Given the description of an element on the screen output the (x, y) to click on. 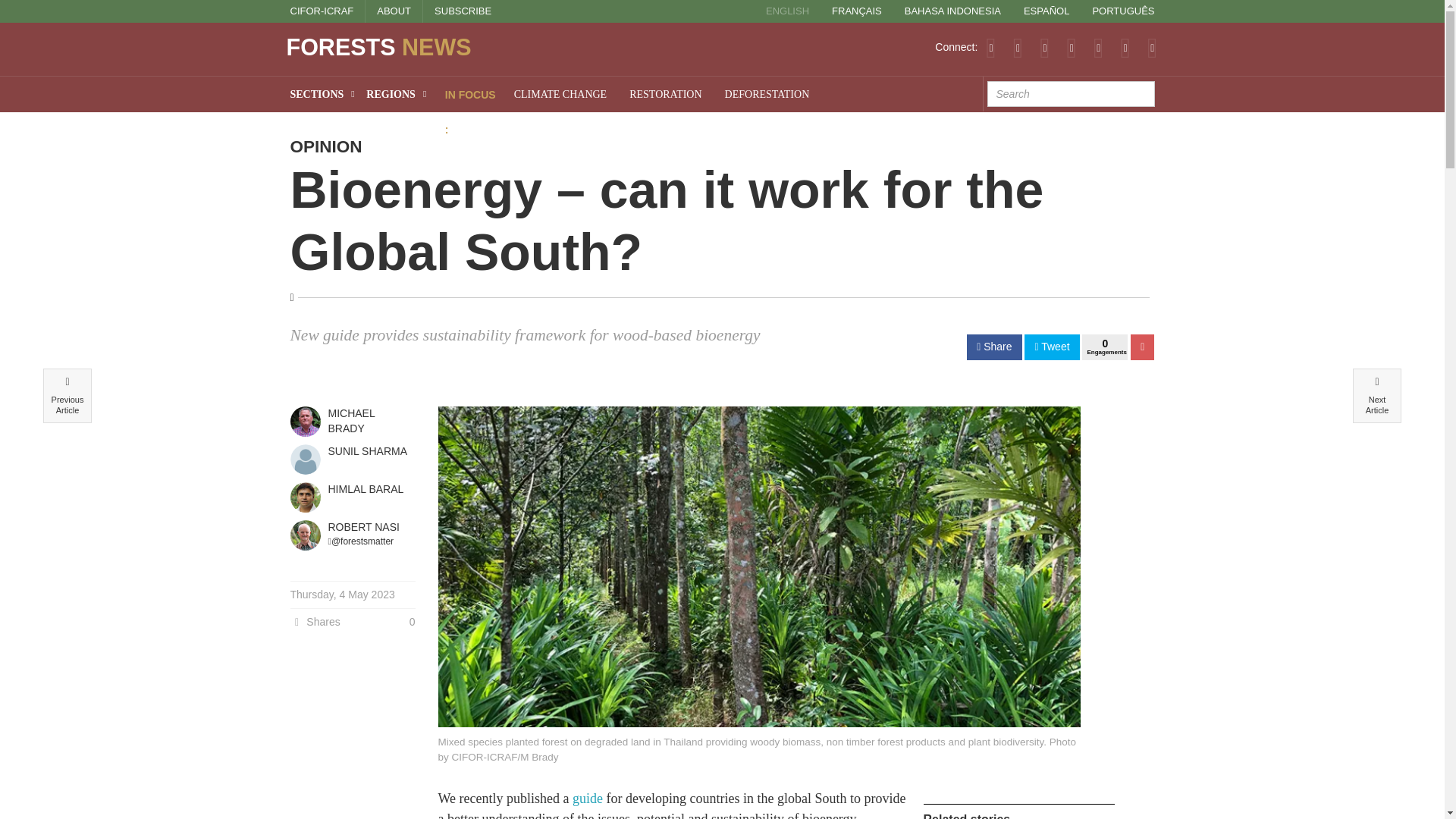
CIFOR-ICRAF (321, 10)
SUBSCRIBE (462, 10)
Youtube (1098, 46)
Feed (990, 46)
Email (1152, 46)
LinkedIn (1071, 46)
Instagram (1125, 46)
Twitter (1017, 46)
ABOUT (393, 10)
Share on Facebook (994, 347)
ENGLISH (787, 11)
Facebook (1044, 46)
BAHASA INDONESIA (952, 11)
